Given the description of an element on the screen output the (x, y) to click on. 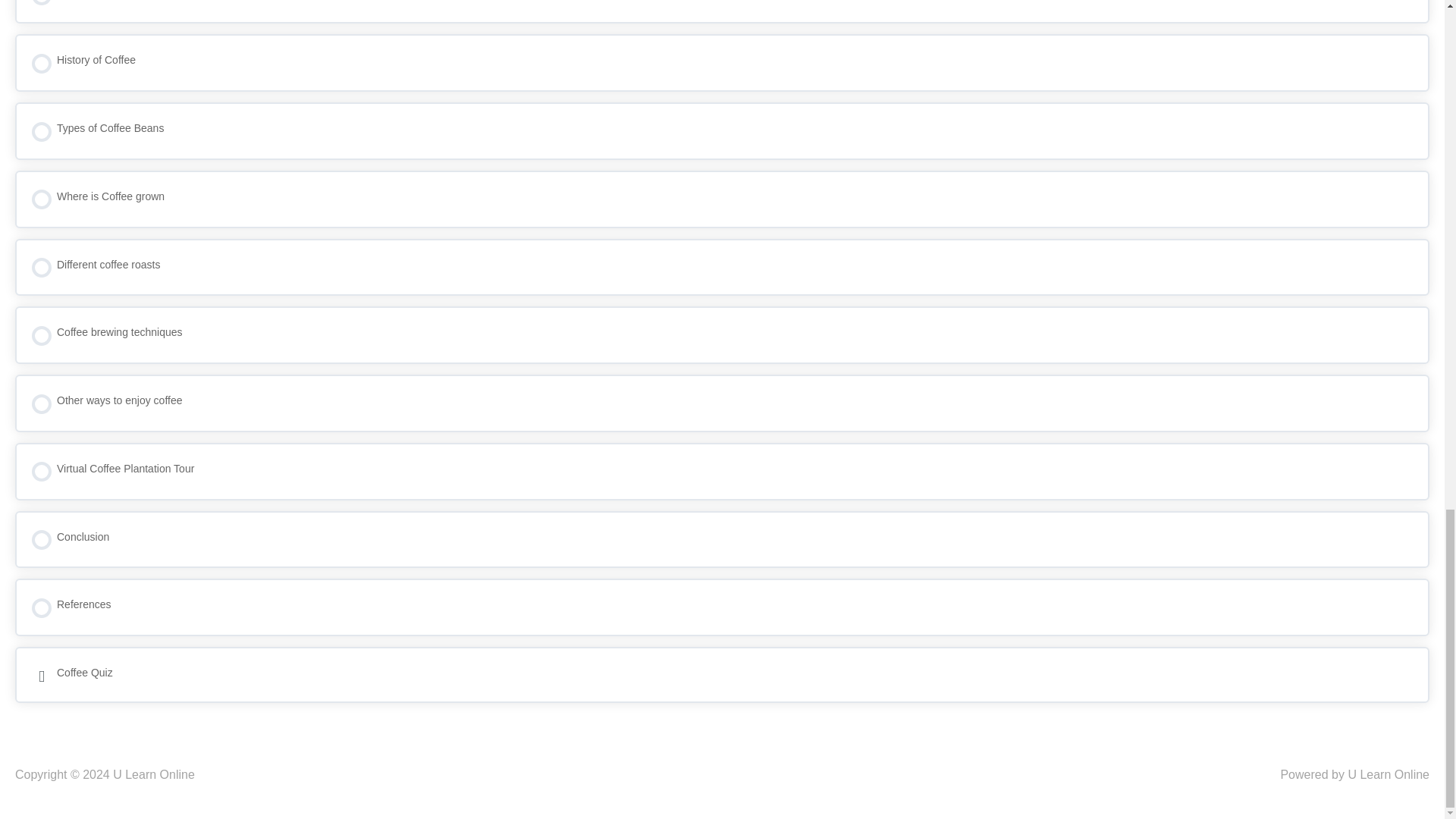
History of Coffee (722, 62)
Other ways to enjoy coffee (722, 403)
Where is Coffee grown (722, 199)
Different coffee roasts (722, 267)
Coffee brewing techniques (722, 334)
Virtual Coffee Plantation Tour (722, 471)
Types of Coffee Beans (722, 130)
Conclusion (722, 539)
